Given the description of an element on the screen output the (x, y) to click on. 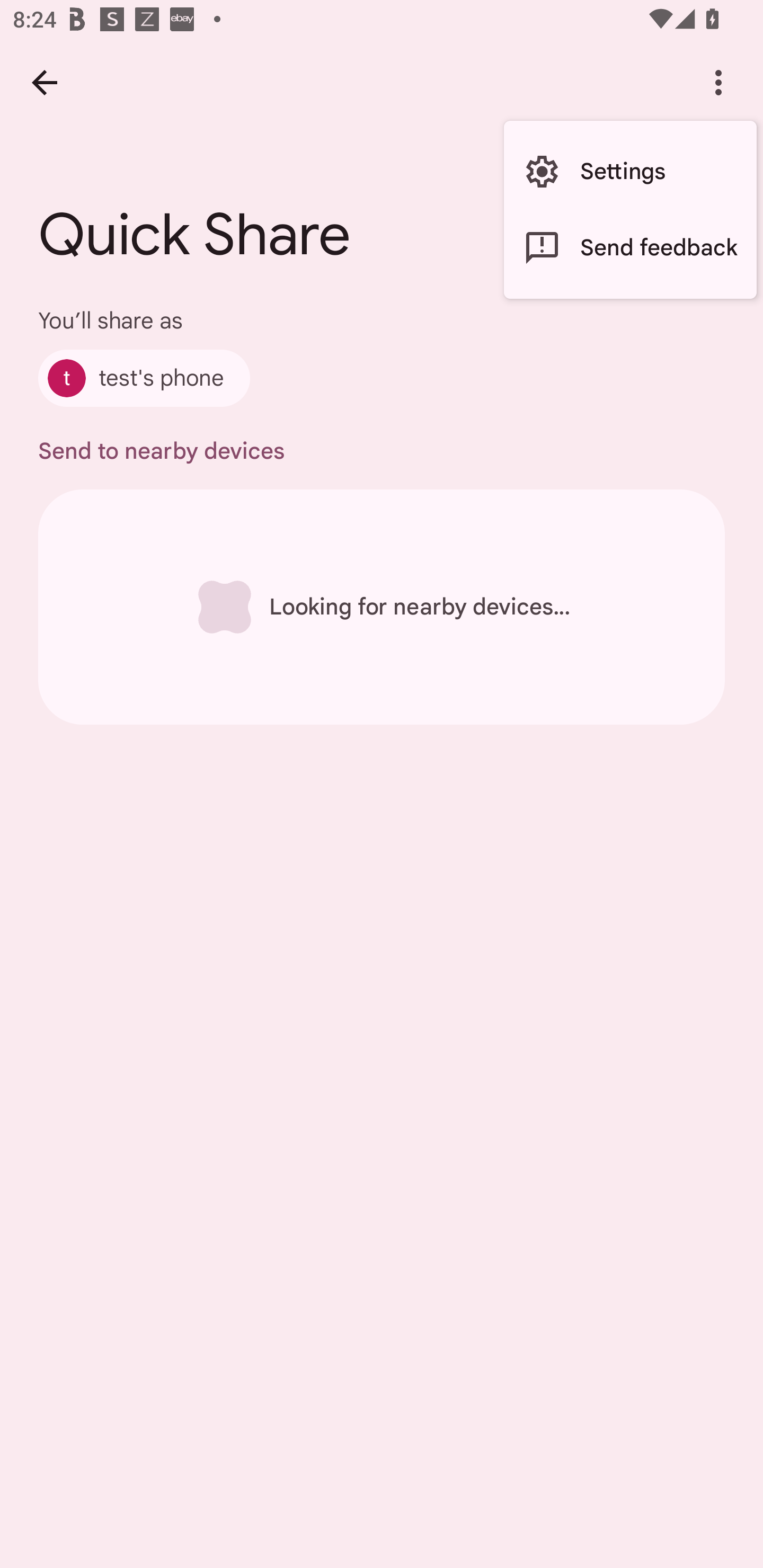
Settings (629, 171)
Send feedback (629, 247)
